Given the description of an element on the screen output the (x, y) to click on. 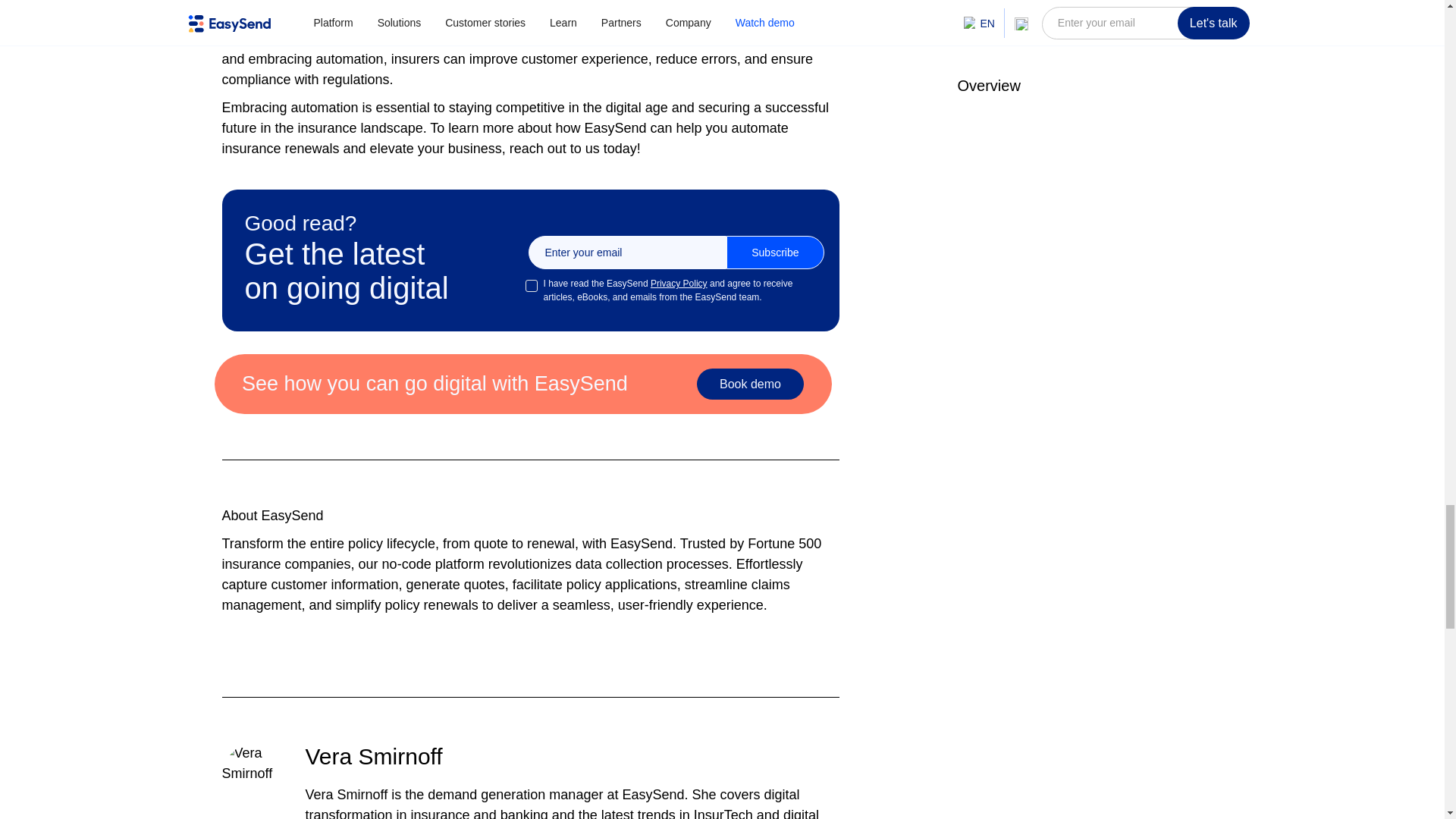
Subscribe (775, 252)
